Given the description of an element on the screen output the (x, y) to click on. 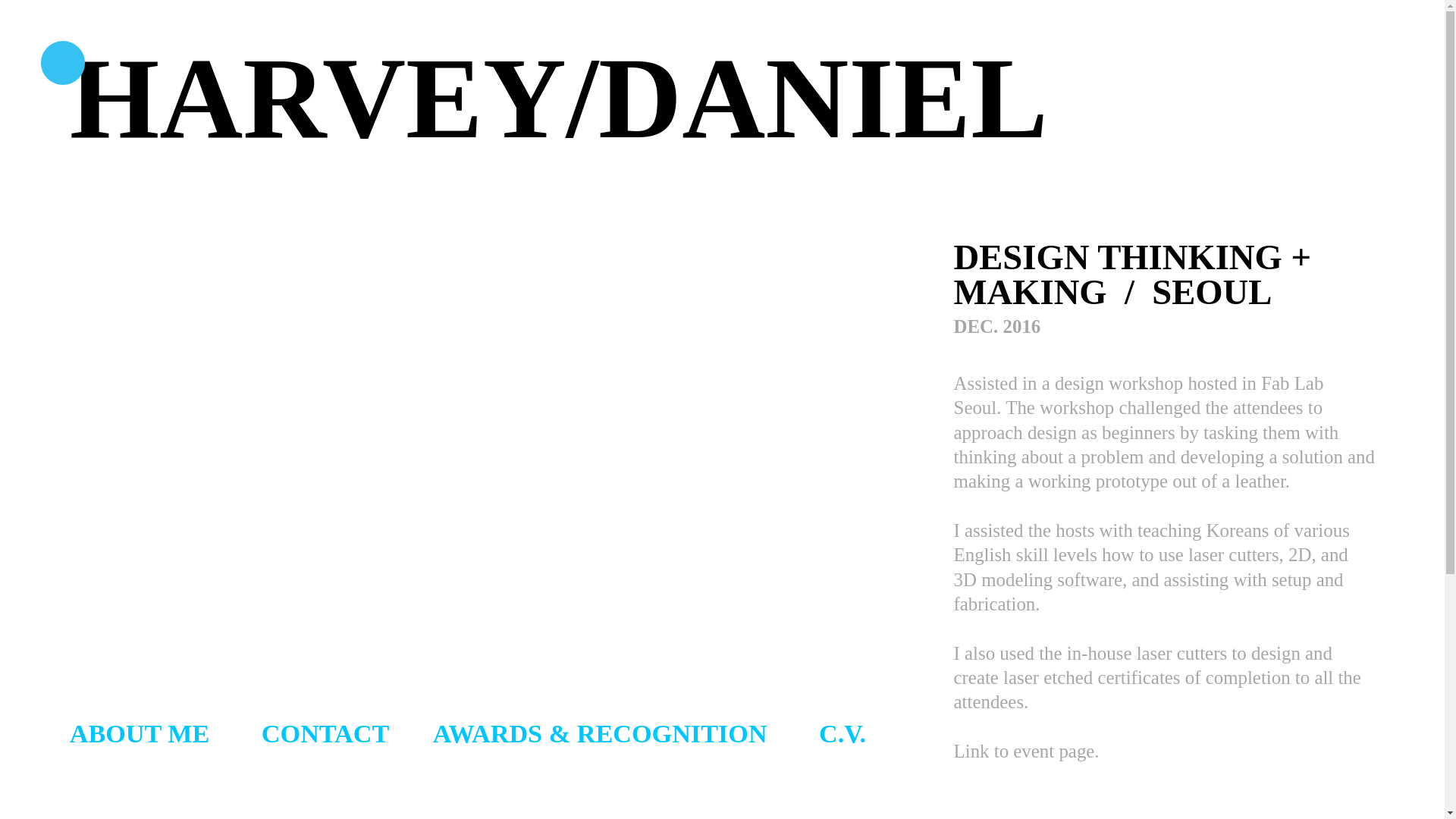
Link to event page. (1026, 751)
ABOUT ME (142, 734)
C.V. (842, 734)
CONTACT (325, 734)
